Given the description of an element on the screen output the (x, y) to click on. 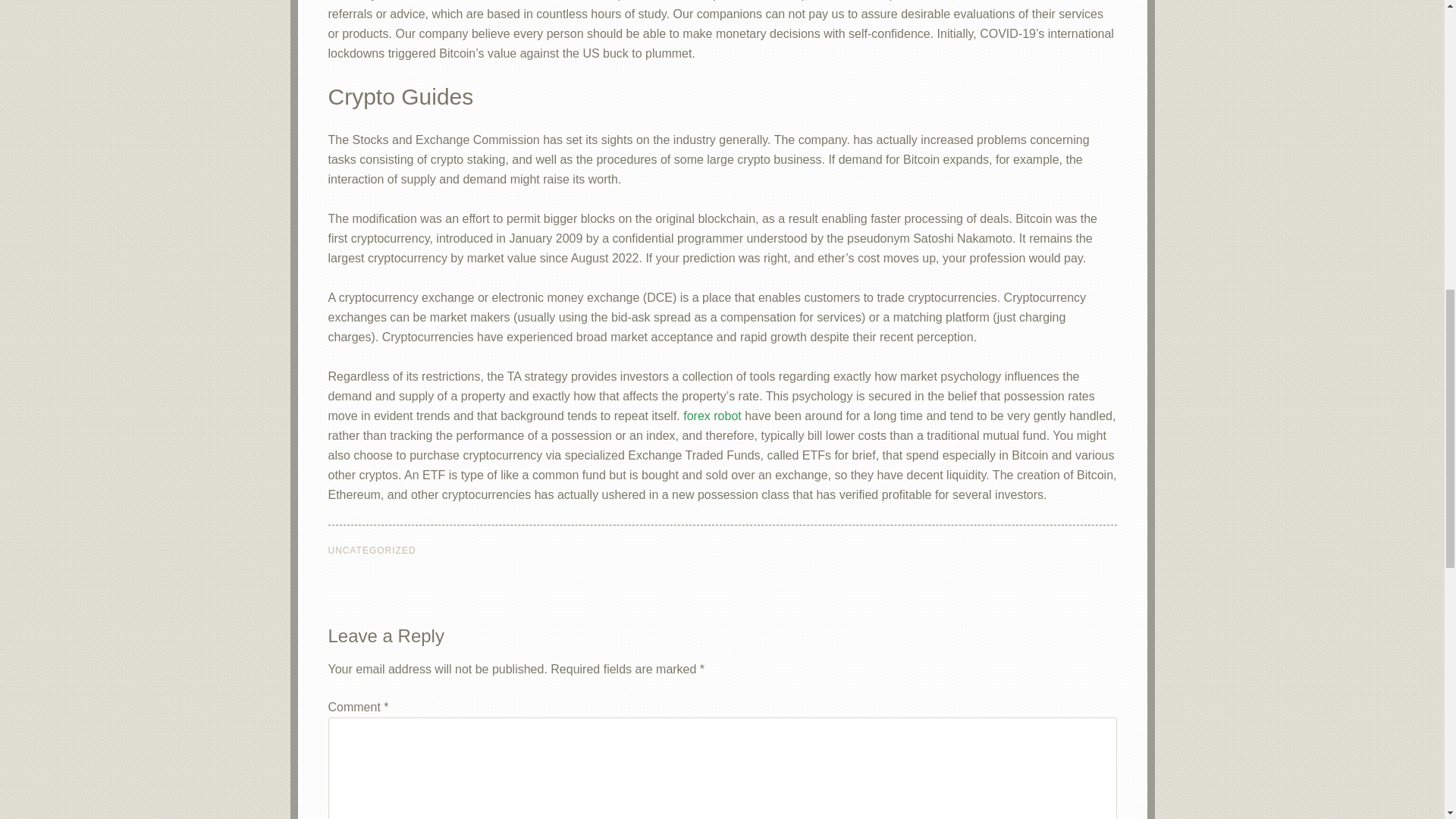
UNCATEGORIZED (370, 550)
forex robot (711, 415)
